Given the description of an element on the screen output the (x, y) to click on. 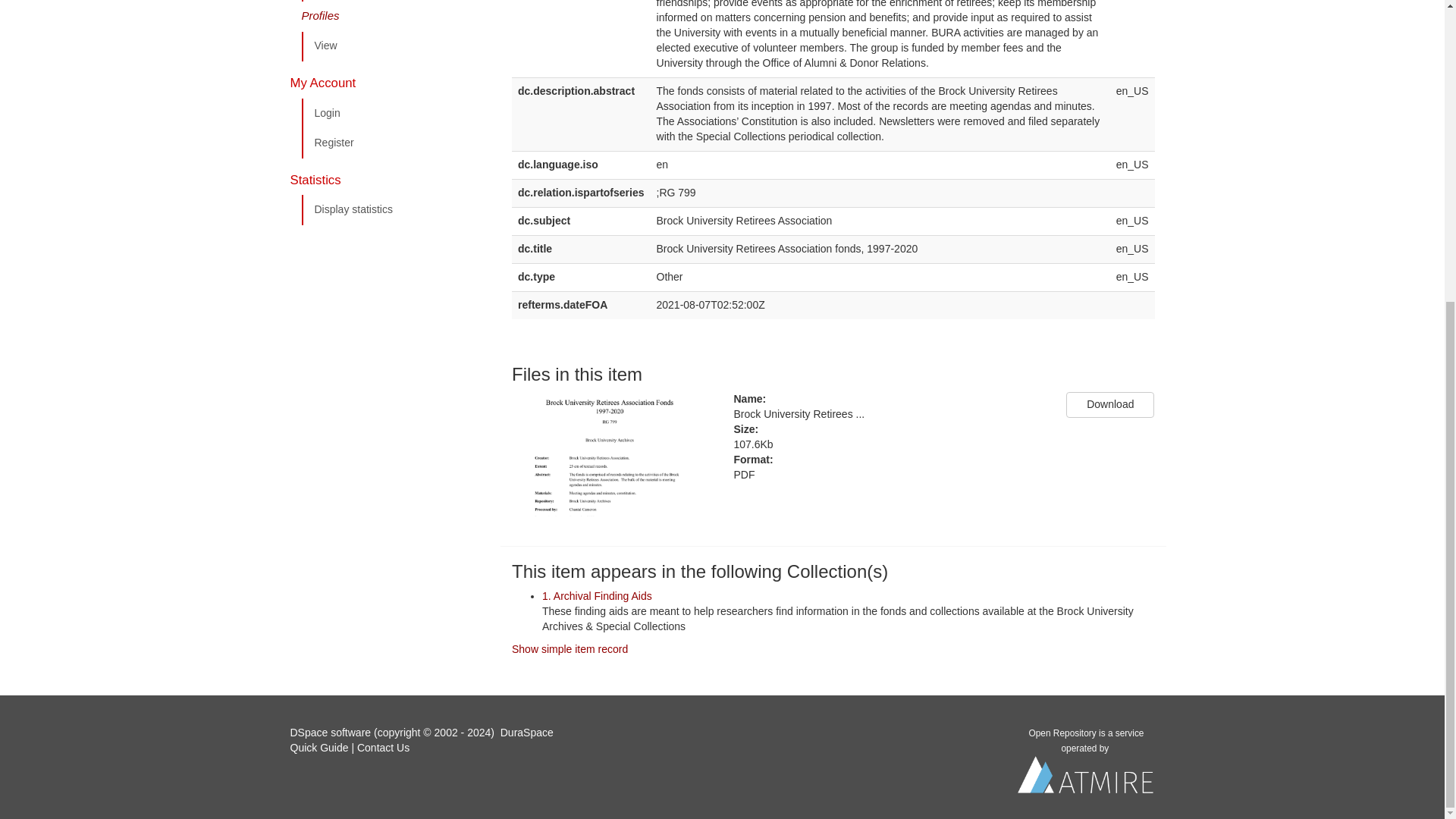
Display statistics (395, 209)
Brock University Retirees Association Fonds  RG 799.pdf (888, 414)
Subjects (395, 1)
Login (395, 113)
Register (395, 142)
Profiles (395, 16)
Atmire NV (1085, 779)
View (395, 46)
